Given the description of an element on the screen output the (x, y) to click on. 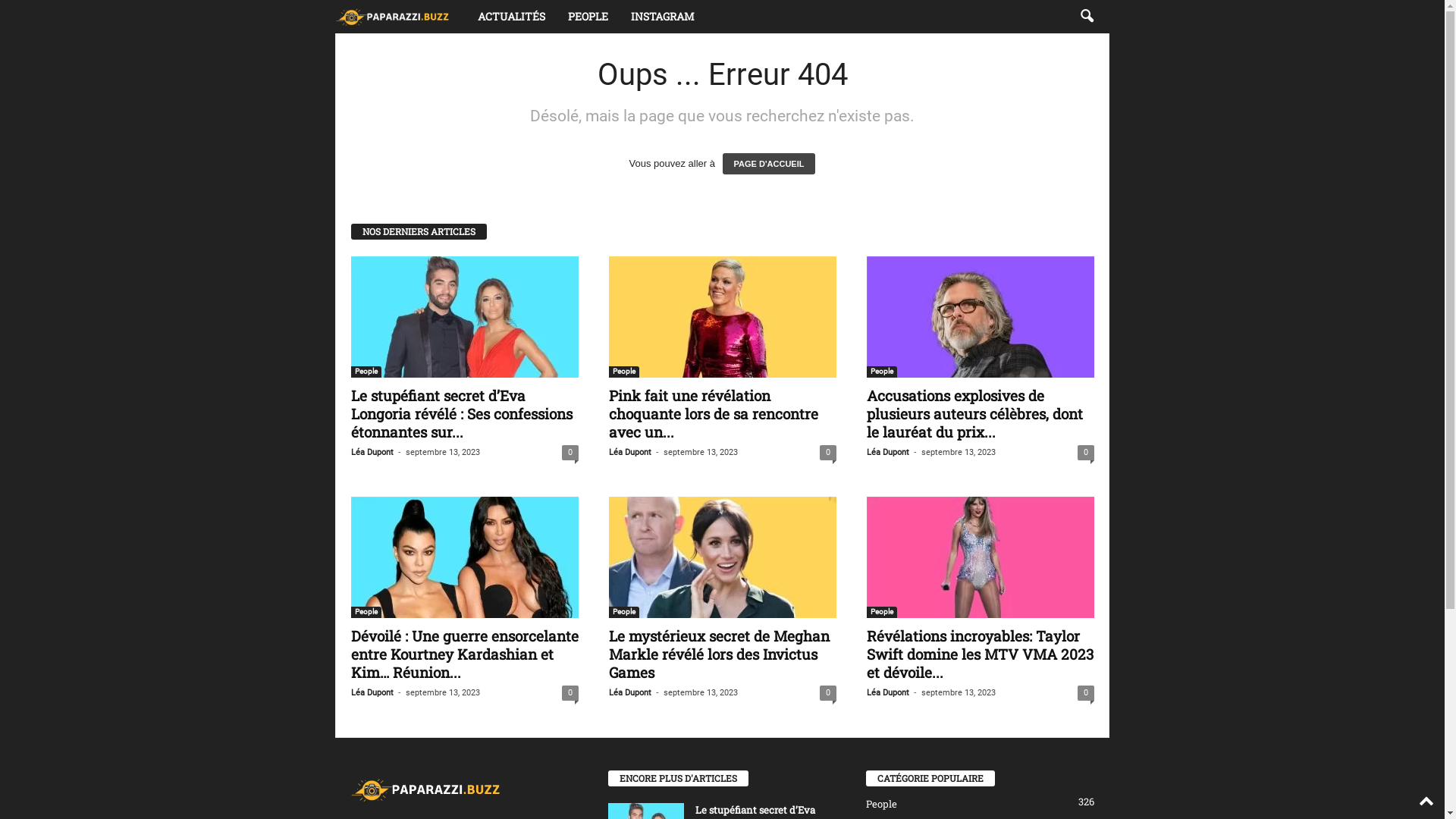
People Element type: text (366, 371)
Paparazzi Element type: text (400, 17)
People Element type: text (623, 371)
INSTAGRAM Element type: text (662, 16)
Paparazzi Element type: hover (426, 789)
0 Element type: text (827, 452)
0 Element type: text (569, 452)
0 Element type: text (1085, 452)
PAGE D'ACCUEIL Element type: text (768, 163)
PEOPLE Element type: text (587, 16)
0 Element type: text (1085, 692)
People Element type: text (366, 612)
People Element type: text (881, 612)
People Element type: text (623, 612)
Paparazzi Element type: hover (392, 16)
People Element type: text (881, 371)
People
326 Element type: text (881, 803)
0 Element type: text (569, 692)
0 Element type: text (827, 692)
